Given the description of an element on the screen output the (x, y) to click on. 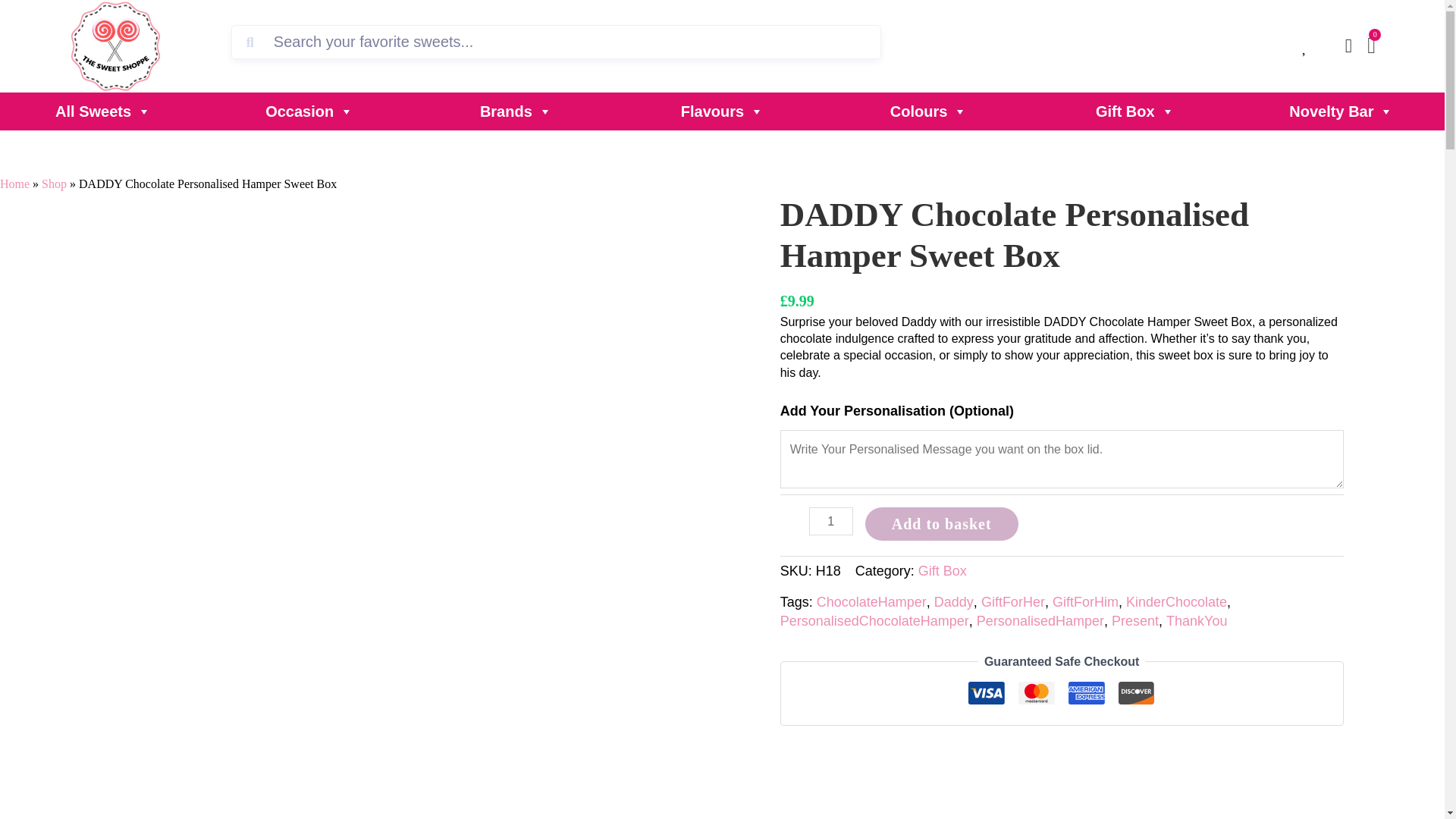
1 (831, 520)
